Given the description of an element on the screen output the (x, y) to click on. 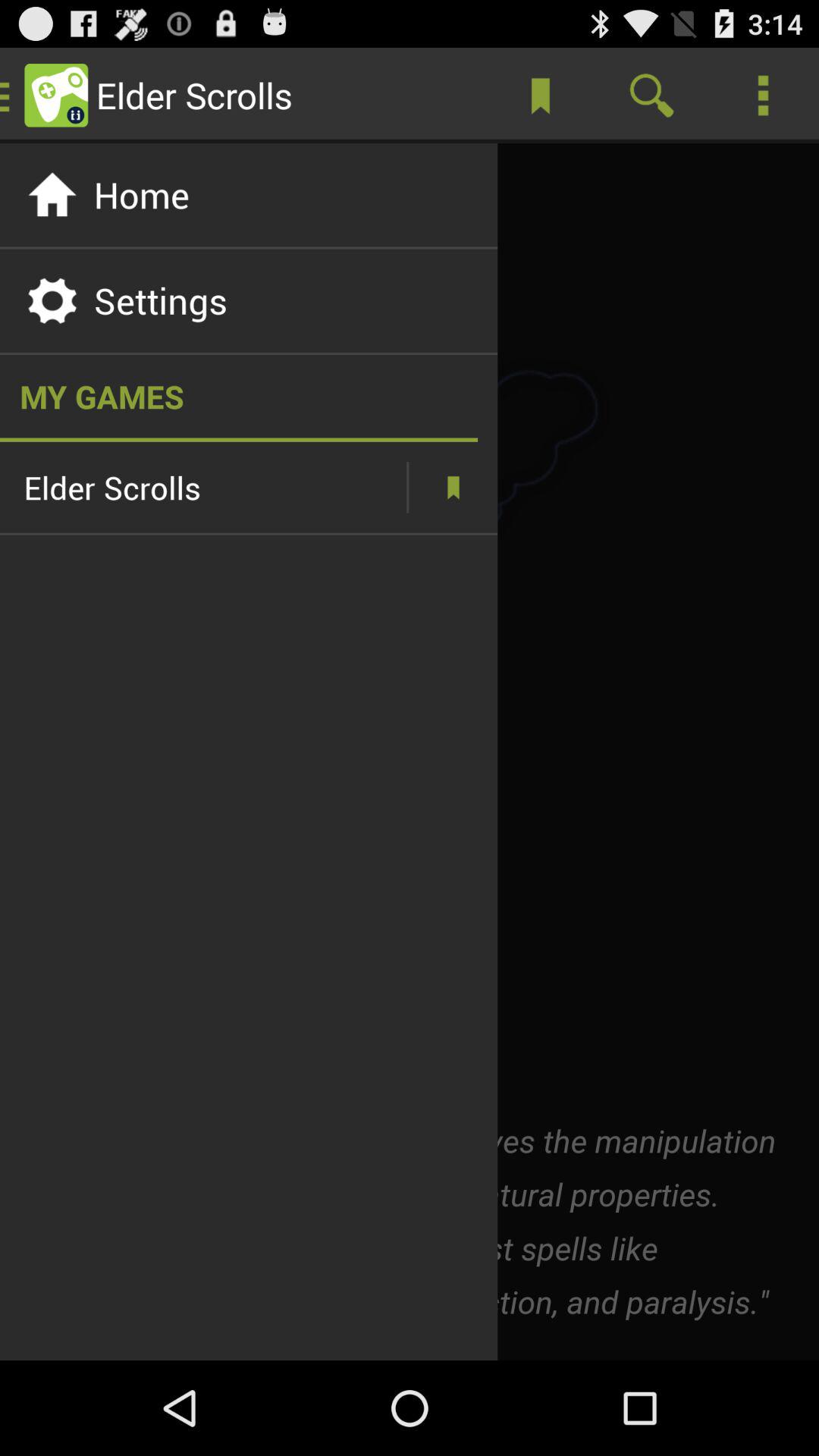
more information (452, 486)
